Given the description of an element on the screen output the (x, y) to click on. 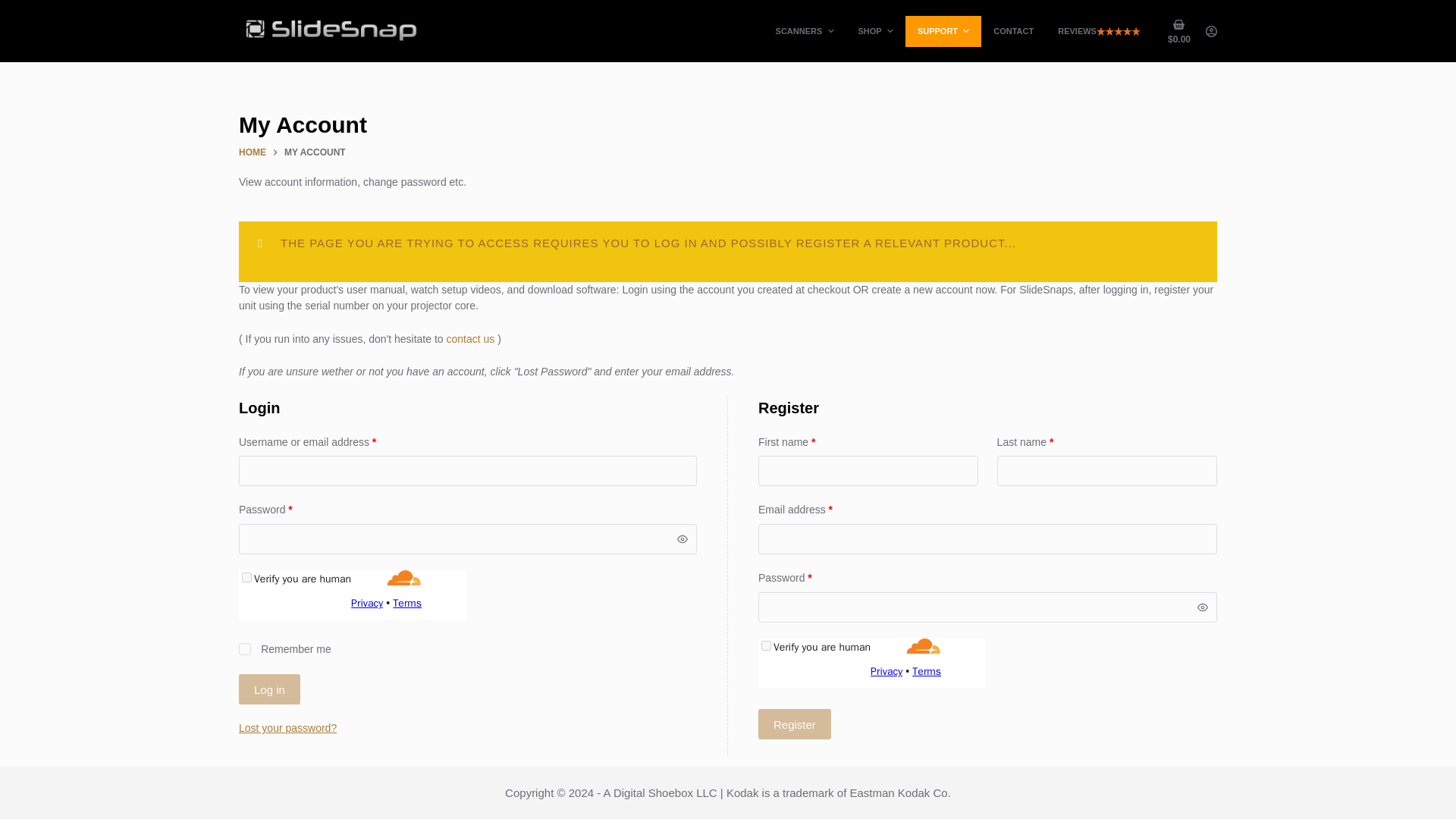
Skip to content (15, 7)
SHOP (875, 30)
Reviews and Feedback (1099, 30)
My Account (727, 124)
forever (244, 648)
SCANNERS (803, 30)
